Given the description of an element on the screen output the (x, y) to click on. 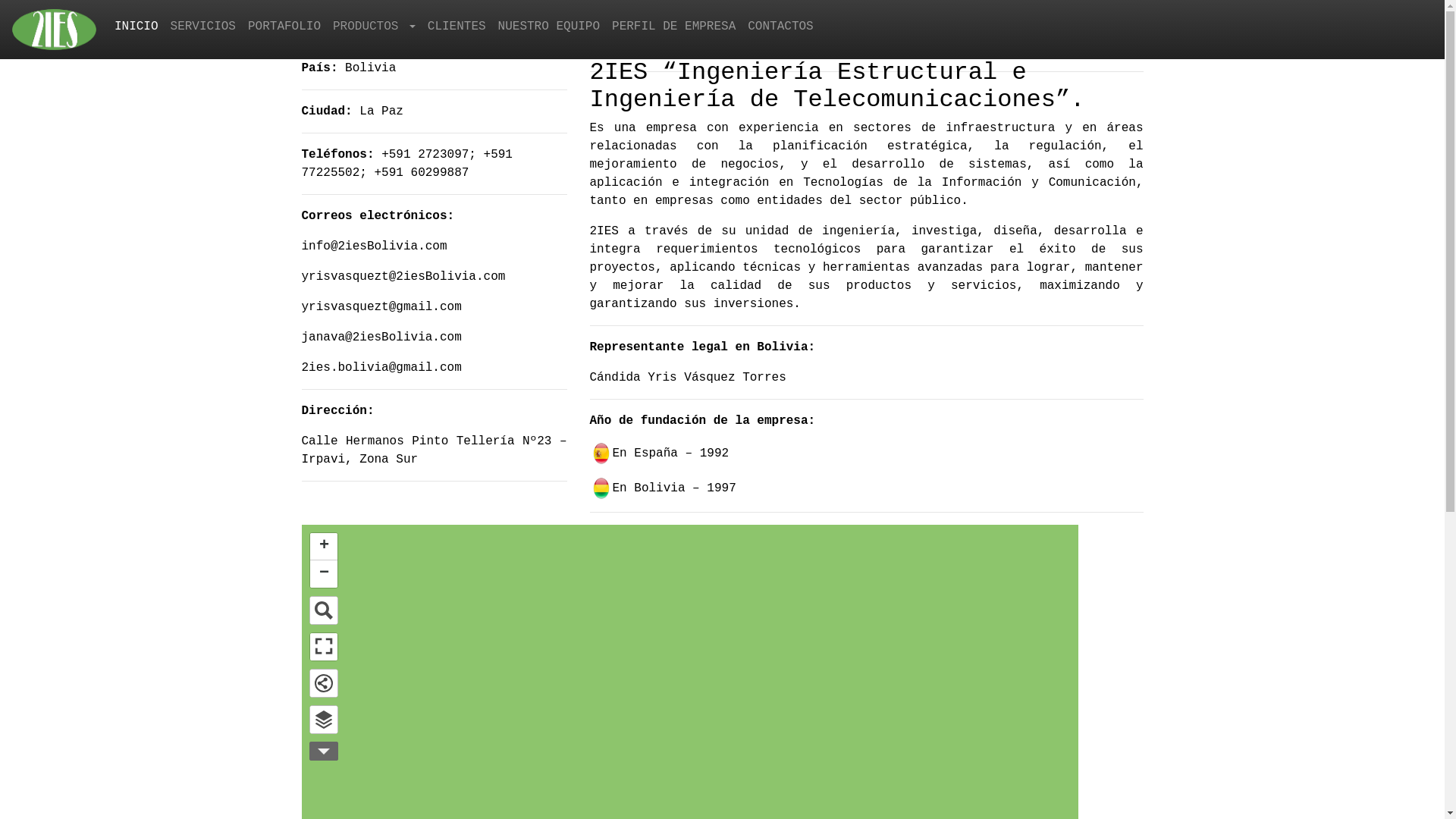
NUESTRO EQUIPO Element type: text (548, 29)
INICIO
(current) Element type: text (136, 29)
CONTACTOS Element type: text (780, 29)
PERFIL DE EMPRESA Element type: text (673, 29)
SERVICIOS Element type: text (202, 29)
CLIENTES Element type: text (456, 29)
PRODUCTOS Element type: text (373, 26)
PORTAFOLIO Element type: text (283, 29)
